Given the description of an element on the screen output the (x, y) to click on. 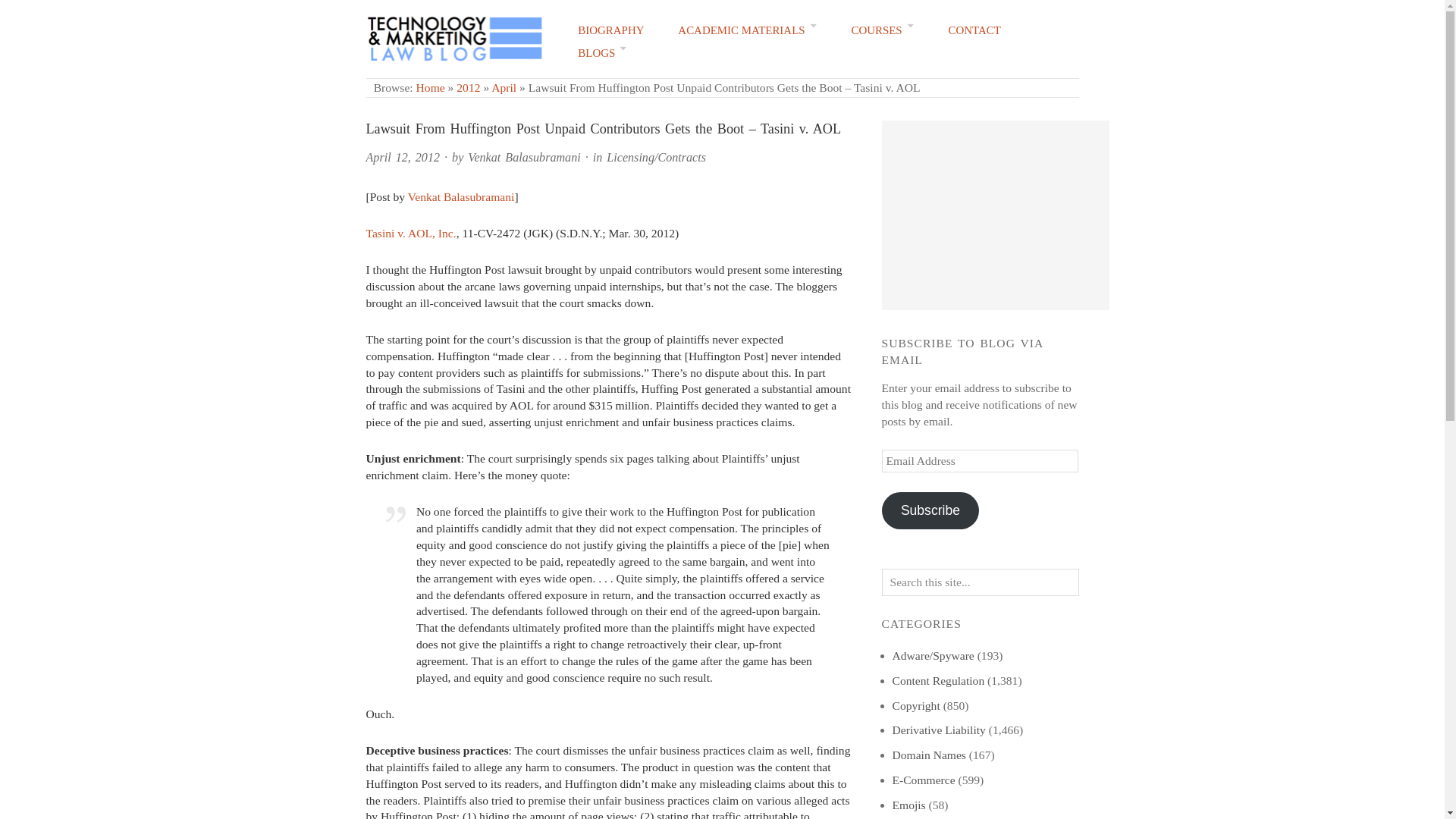
COURSES (882, 30)
Venkat Balasubramani (461, 196)
April 12, 2012 (402, 156)
Subscribe (929, 510)
April (504, 87)
Tasini v. AOL, Inc. (410, 232)
Advertisement (994, 215)
Search this site... (979, 582)
Search this site... (979, 582)
2012 (468, 87)
ACADEMIC MATERIALS (747, 30)
BIOGRAPHY (610, 30)
Posts by Venkat Balasubramani (523, 156)
CONTACT (975, 30)
Venkat Balasubramani (523, 156)
